Given the description of an element on the screen output the (x, y) to click on. 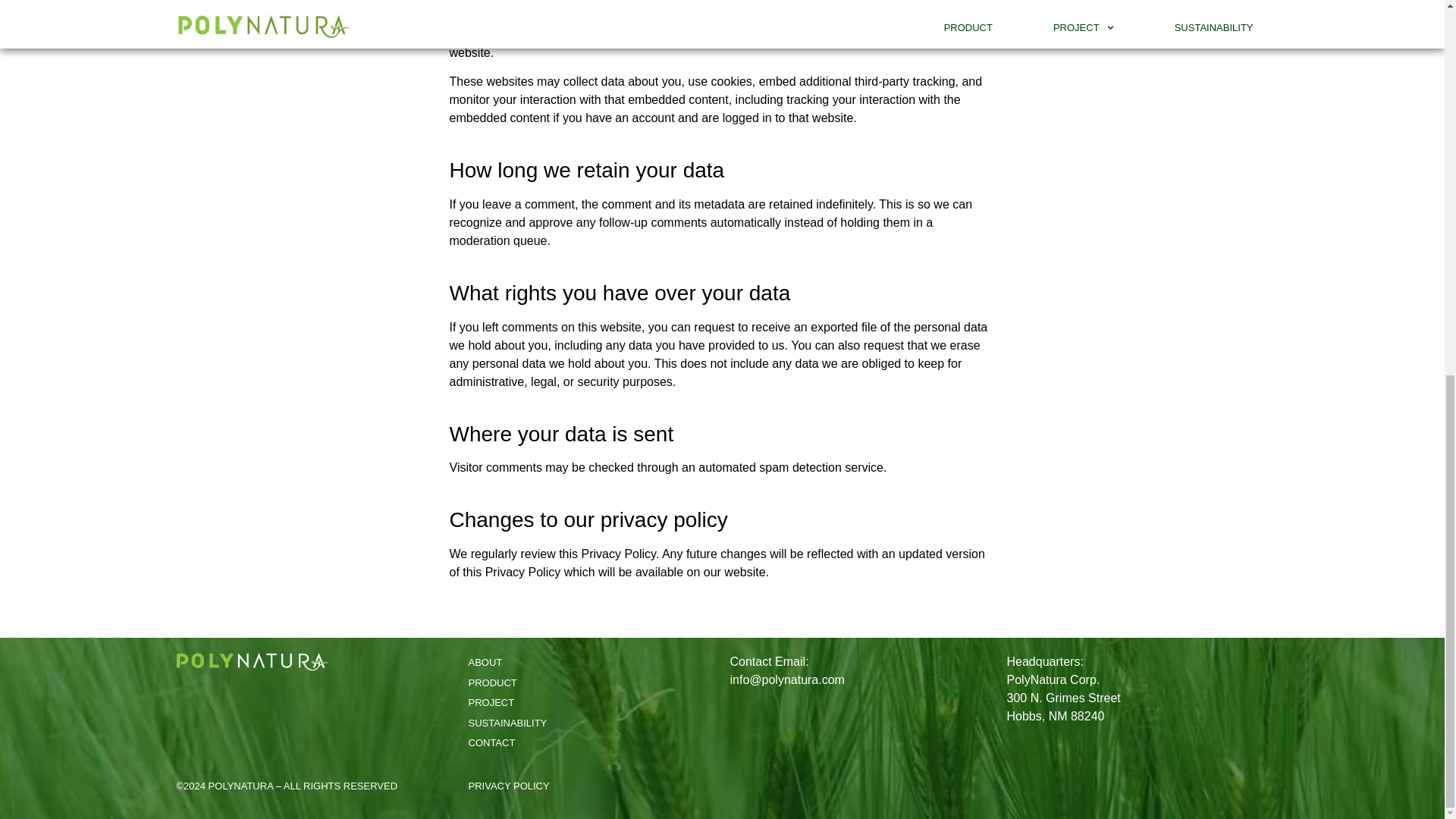
PROJECT (583, 702)
CONTACT (583, 743)
SUSTAINABILITY (583, 723)
ABOUT (583, 662)
PRODUCT (583, 683)
